Given the description of an element on the screen output the (x, y) to click on. 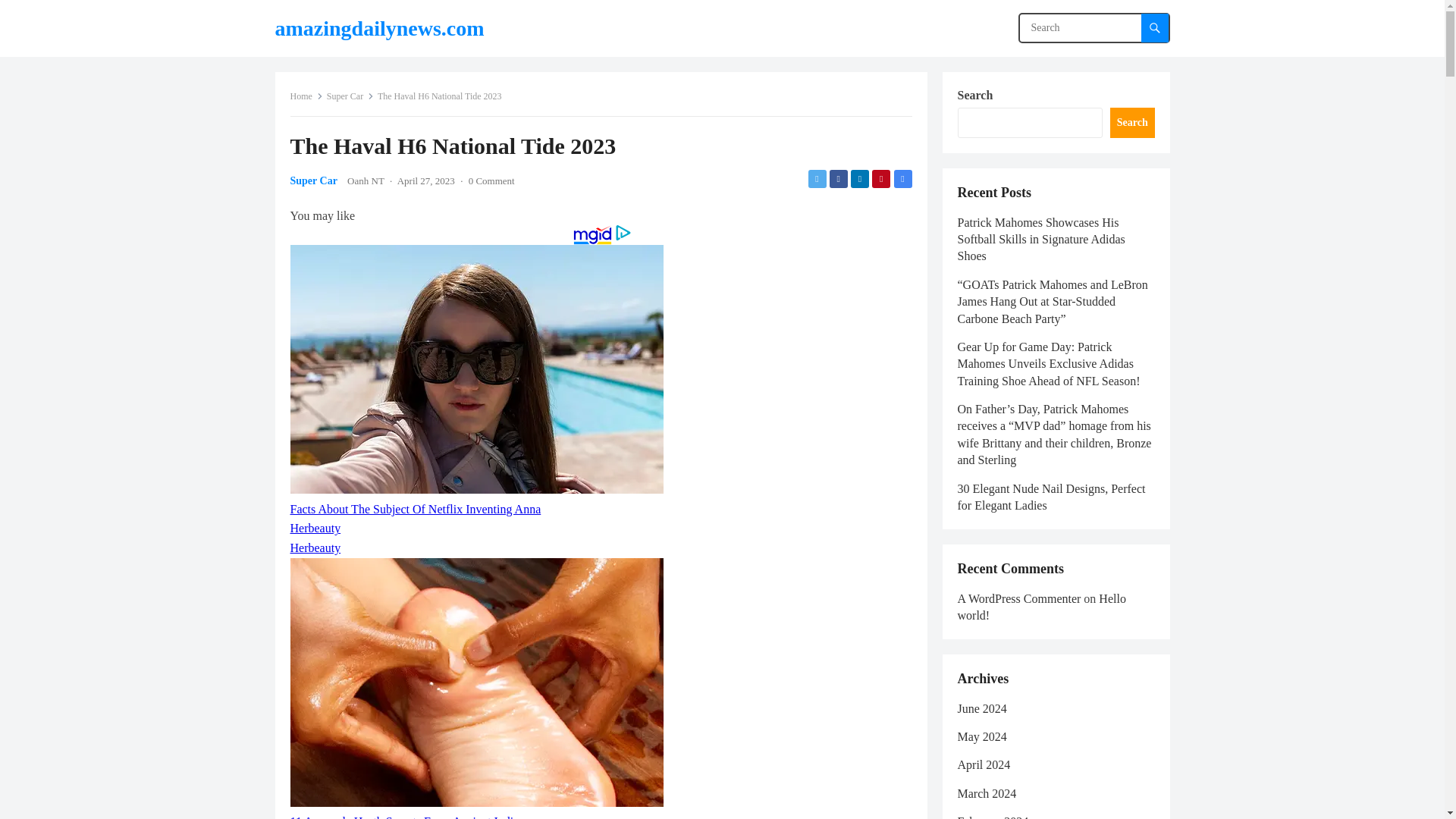
Oanh NT (365, 180)
0 Comment (491, 180)
Super Car (350, 95)
amazingdailynews.com (379, 28)
Posts by Oanh NT (365, 180)
Home (305, 95)
Super Car (312, 180)
